Given the description of an element on the screen output the (x, y) to click on. 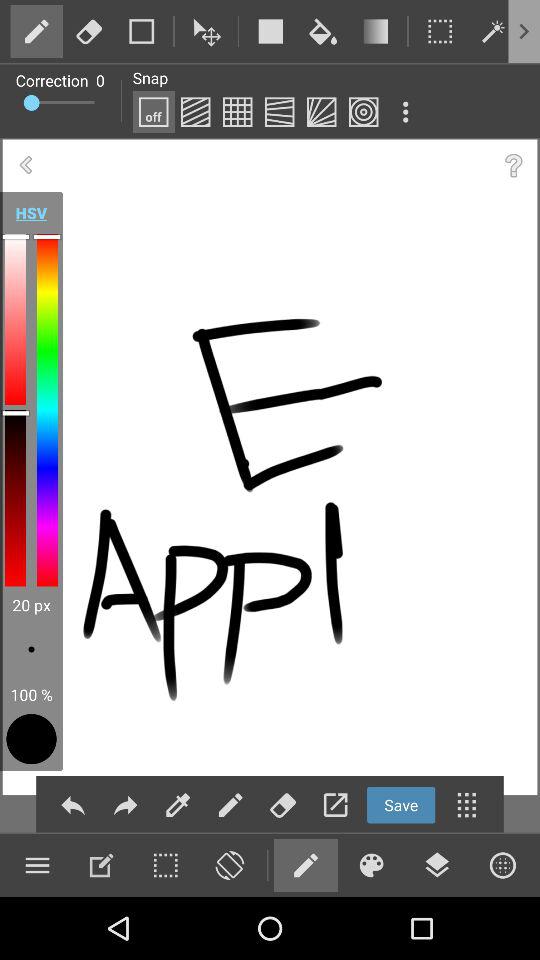
edit option (101, 865)
